Given the description of an element on the screen output the (x, y) to click on. 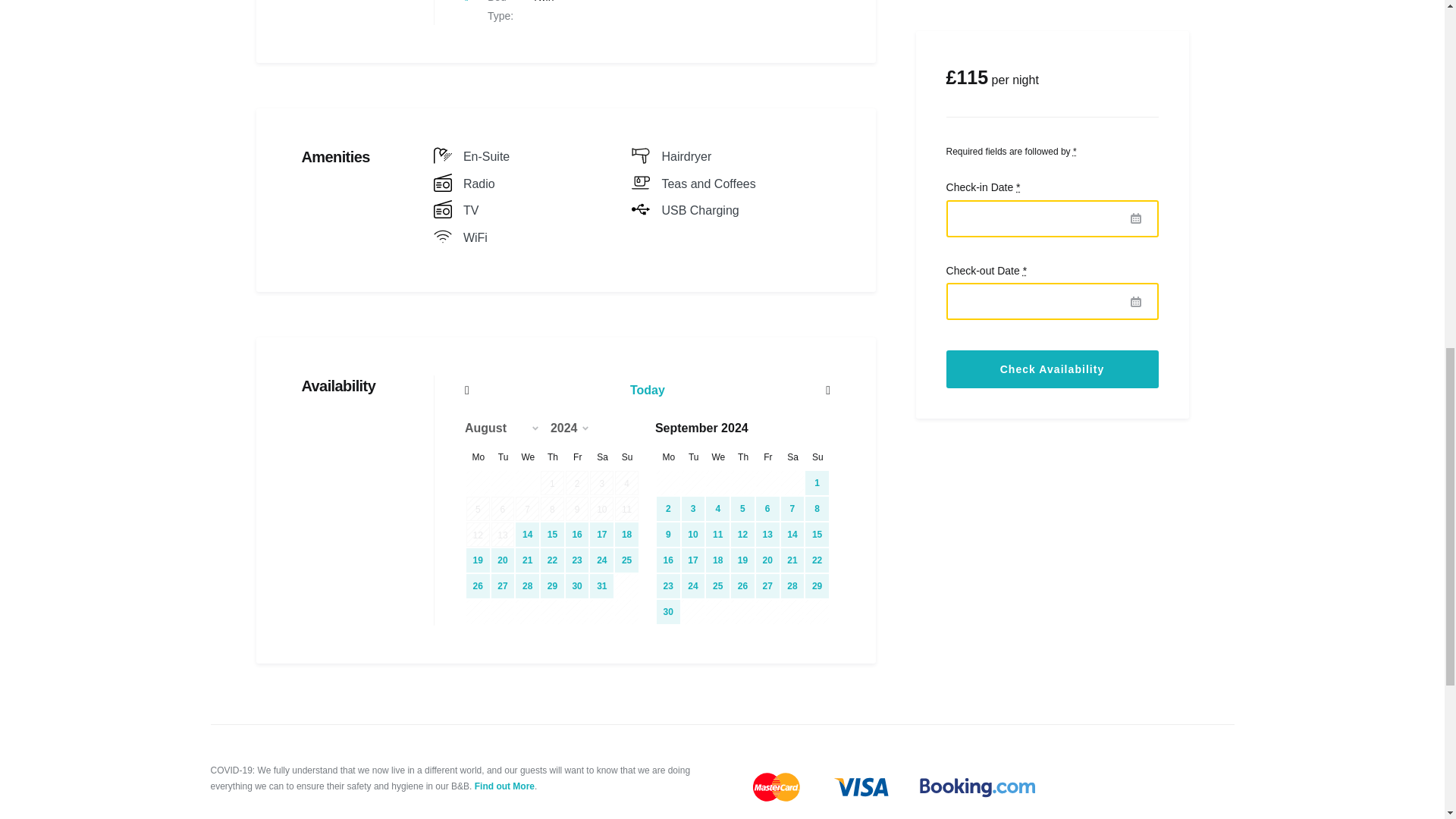
Monday (477, 457)
Check Availability (1052, 37)
Show the next month (774, 390)
Book (1194, 48)
Show the previous month (519, 390)
Show a different year (574, 428)
Day in the past (552, 482)
Today (647, 390)
Wednesday (527, 457)
Show a different month (507, 428)
